Given the description of an element on the screen output the (x, y) to click on. 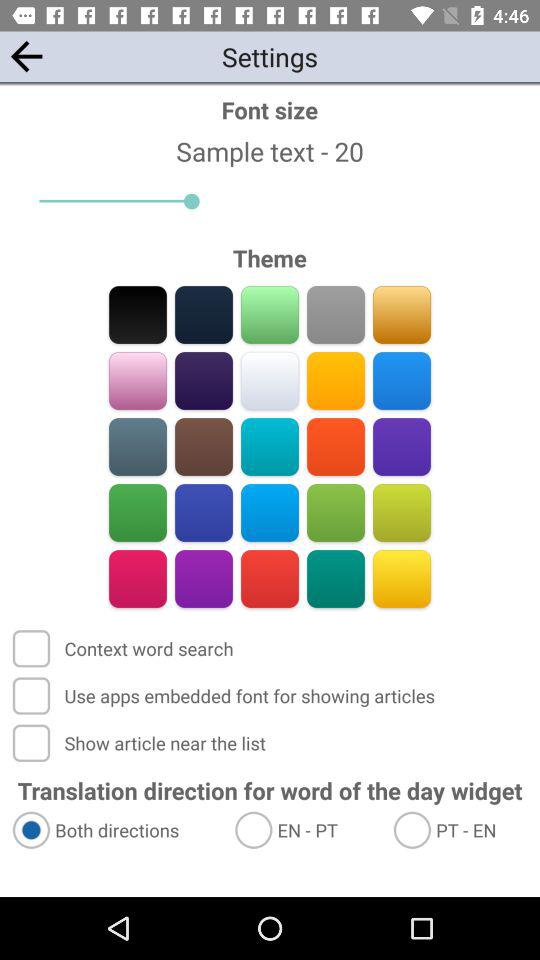
select this color (269, 446)
